Given the description of an element on the screen output the (x, y) to click on. 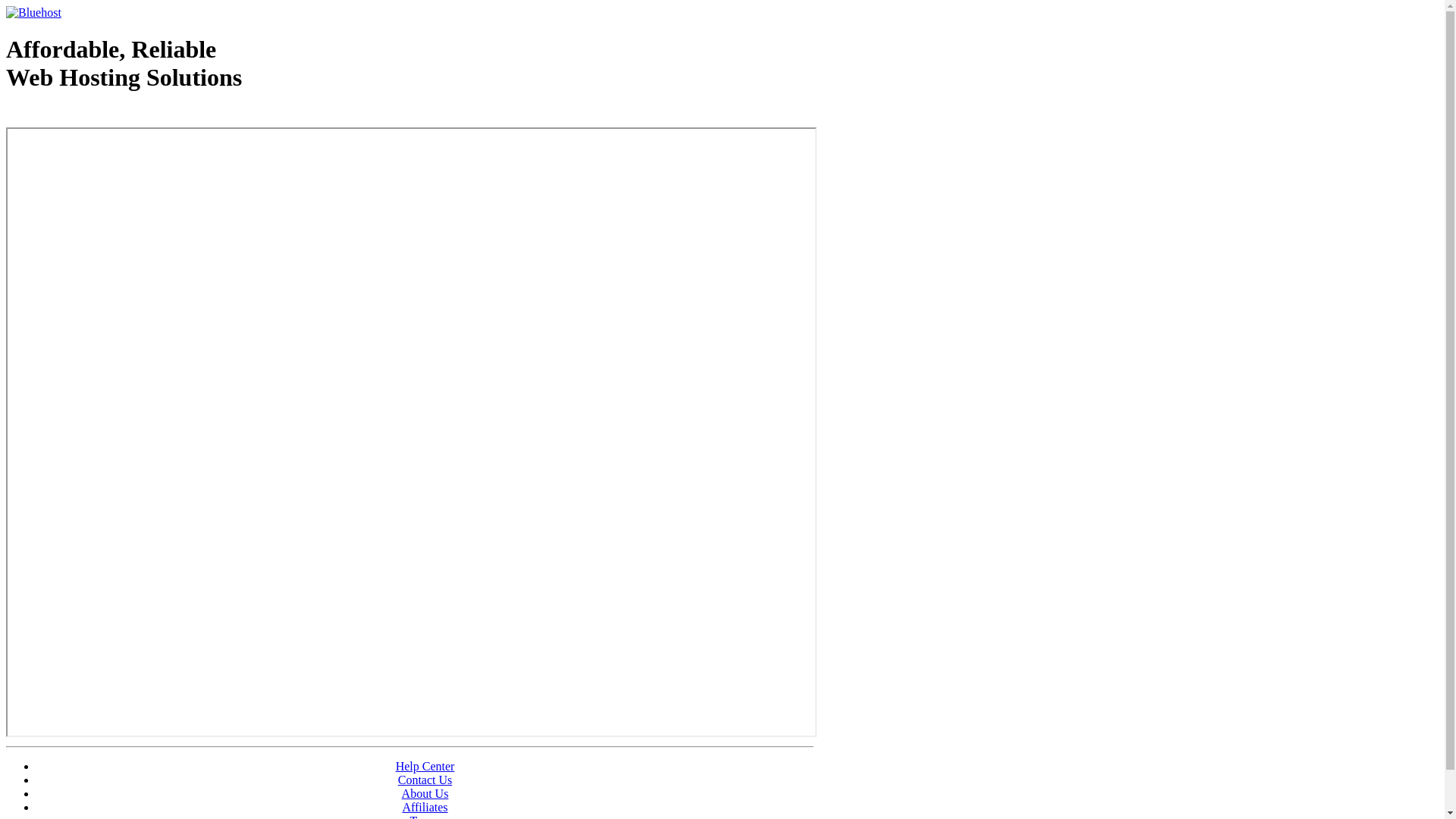
About Us Element type: text (424, 793)
Help Center Element type: text (425, 765)
Affiliates Element type: text (424, 806)
Web Hosting - courtesy of www.bluehost.com Element type: text (94, 115)
Contact Us Element type: text (425, 779)
